Given the description of an element on the screen output the (x, y) to click on. 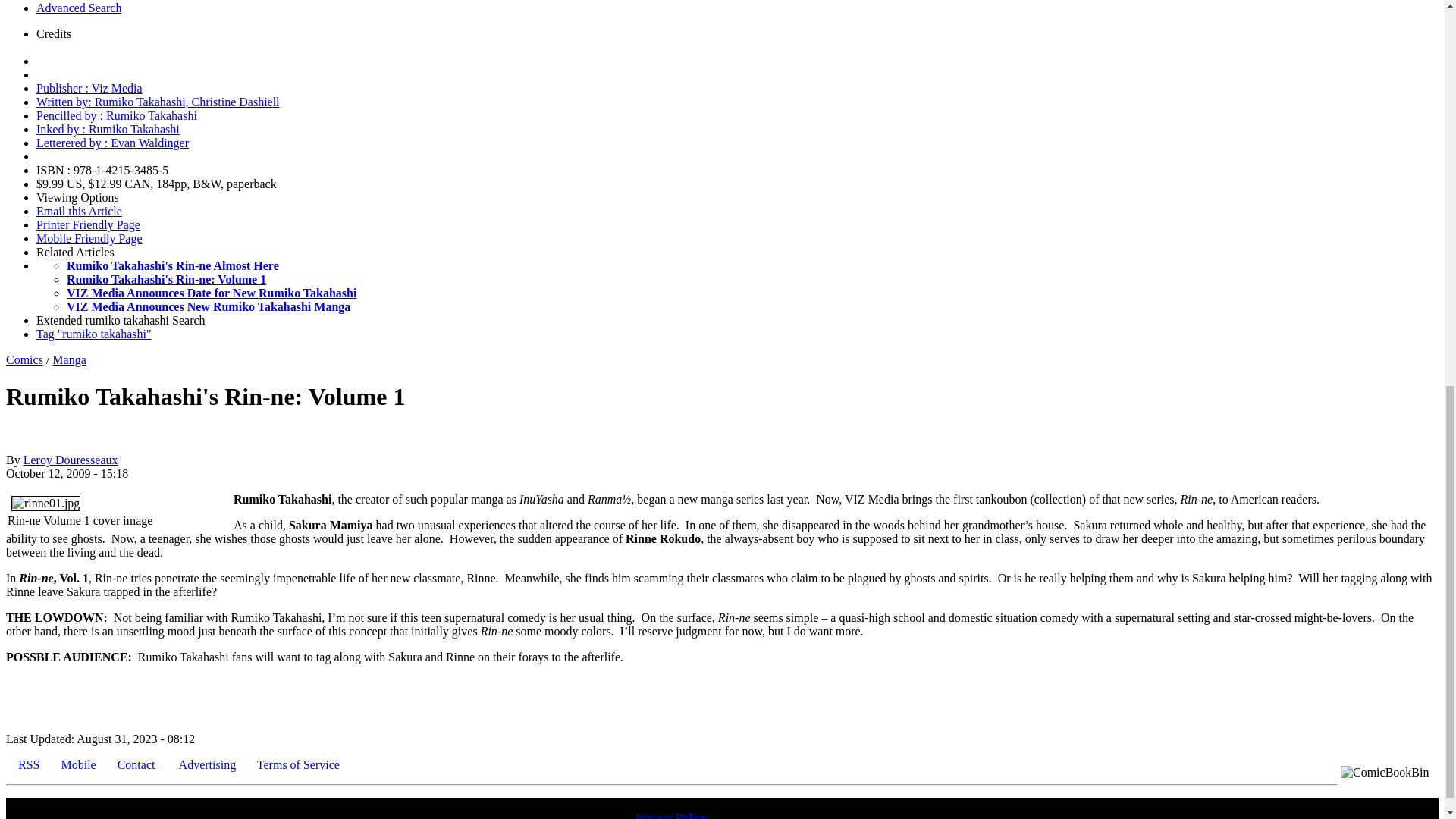
RSS (28, 764)
Contact (137, 764)
Terms of Service (298, 764)
Advertising (207, 764)
Mobile (78, 764)
